Given the description of an element on the screen output the (x, y) to click on. 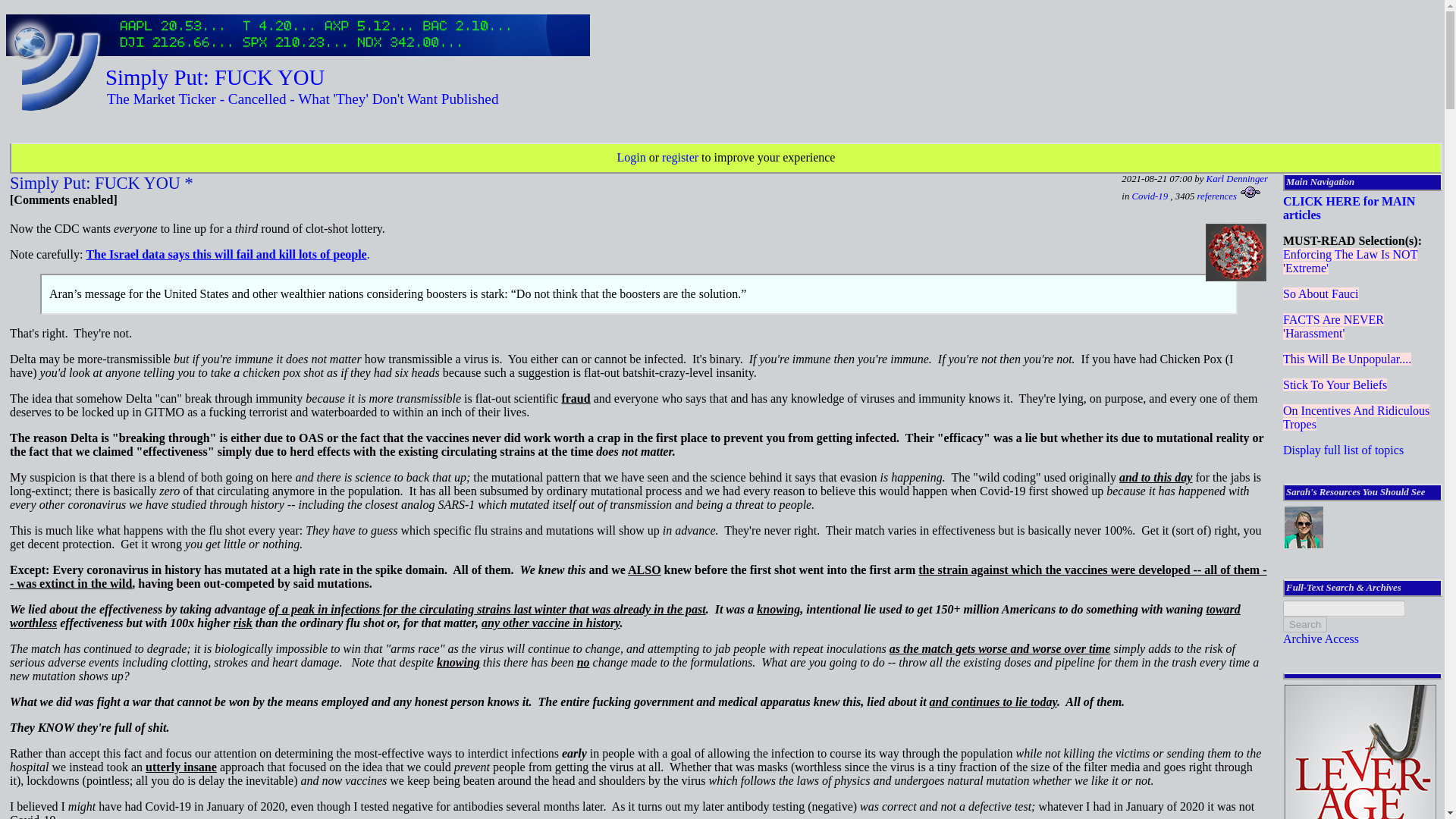
Enforcing The Law Is NOT 'Extreme' (1349, 261)
Search (1304, 624)
Search (1304, 624)
Display the full blog format (301, 98)
Send an email to the author (1237, 178)
Stick To Your Beliefs (1334, 384)
So About Fauci (1320, 293)
Simply Put: FUCK YOU (214, 77)
Ignore This Ticker (1250, 192)
Sarah's Blog (1303, 545)
On Incentives And Ridiculous Tropes (1355, 417)
Display full list of topics (1342, 449)
Archive Access (1320, 638)
Karl Denninger (1237, 178)
